Given the description of an element on the screen output the (x, y) to click on. 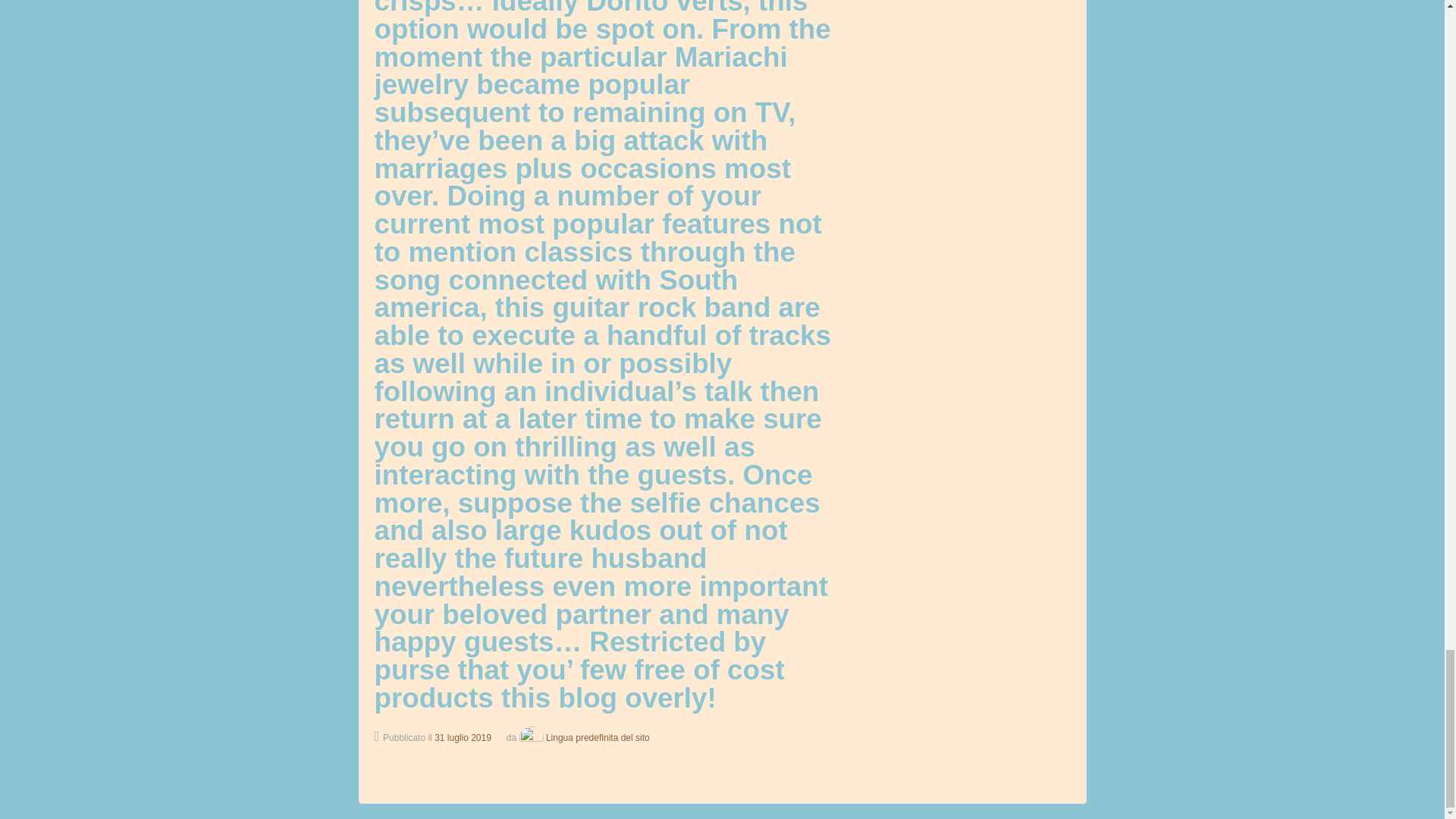
Vedi tutti gli articoli di Lingua predefinita del sito (582, 737)
31 luglio 2019 (462, 737)
Lingua predefinita del sito (582, 737)
